Given the description of an element on the screen output the (x, y) to click on. 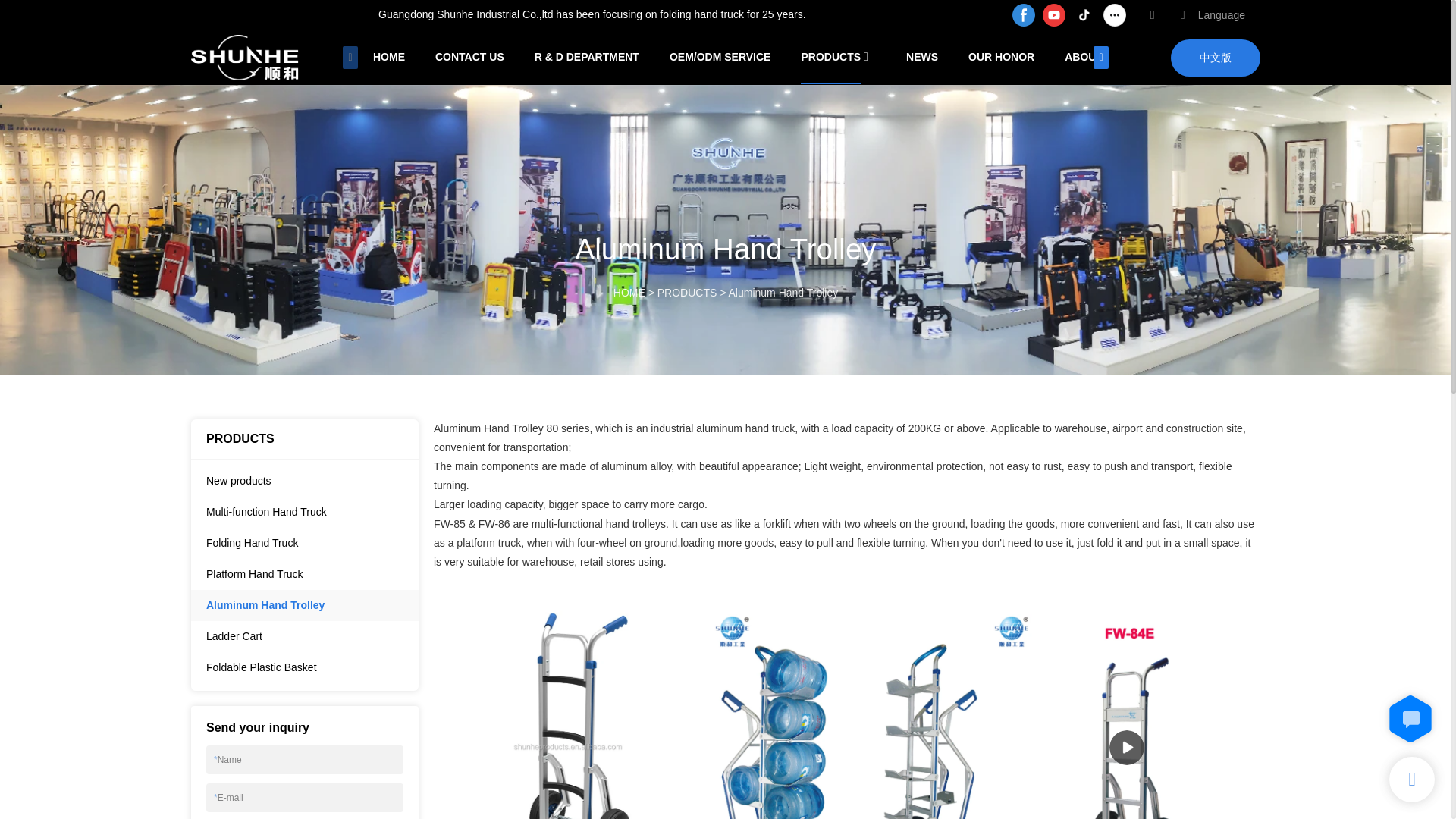
CONTACT US (469, 56)
facebook (1024, 15)
PRODUCTS (687, 292)
youtube (1053, 15)
OUR HONOR (1000, 56)
Aluminum Hand Trolley (783, 292)
PRODUCTS (830, 57)
HOME (628, 292)
tiktok (1083, 15)
ABOUT US (1091, 56)
